Given the description of an element on the screen output the (x, y) to click on. 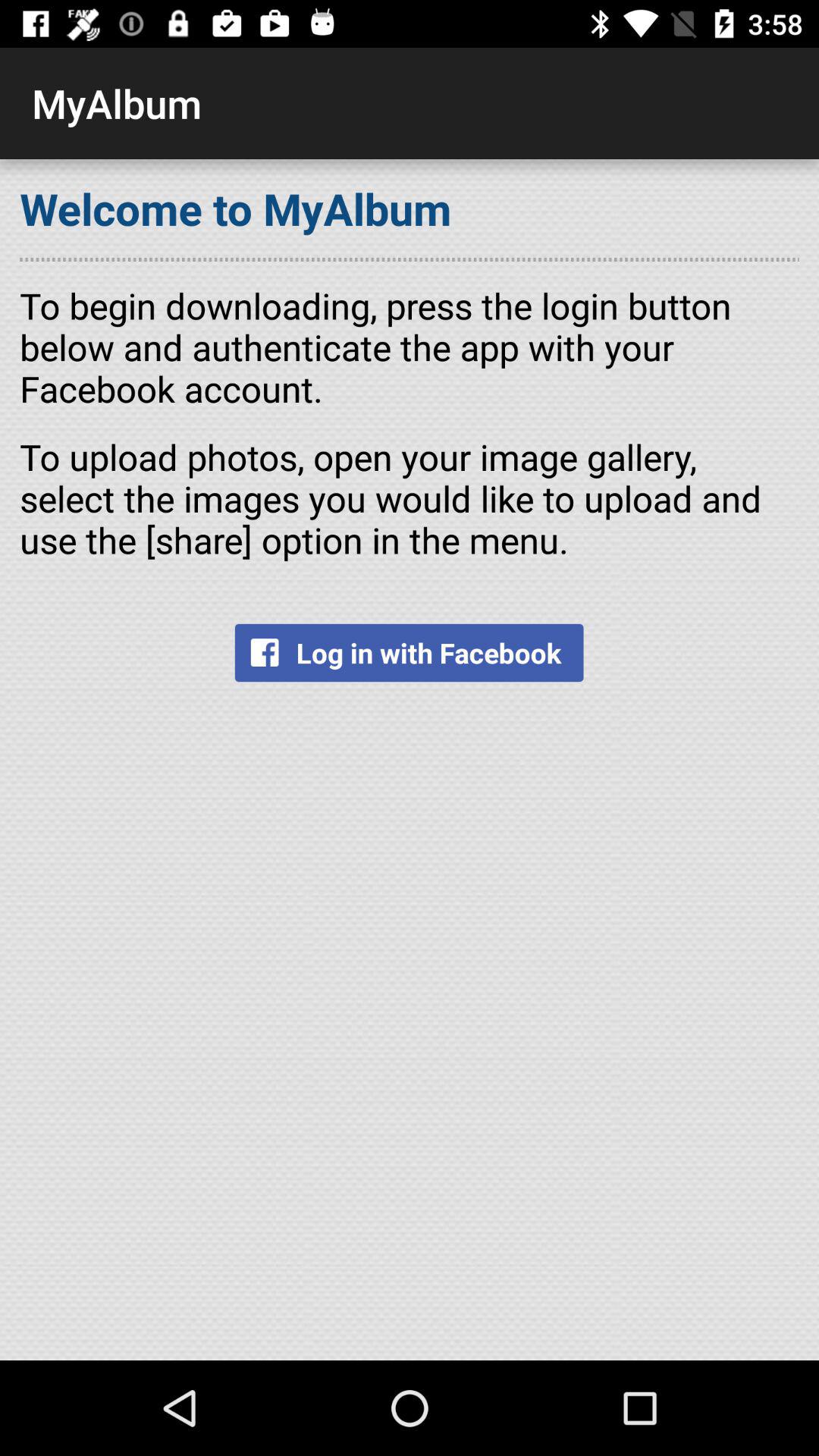
jump until log in with (408, 652)
